Given the description of an element on the screen output the (x, y) to click on. 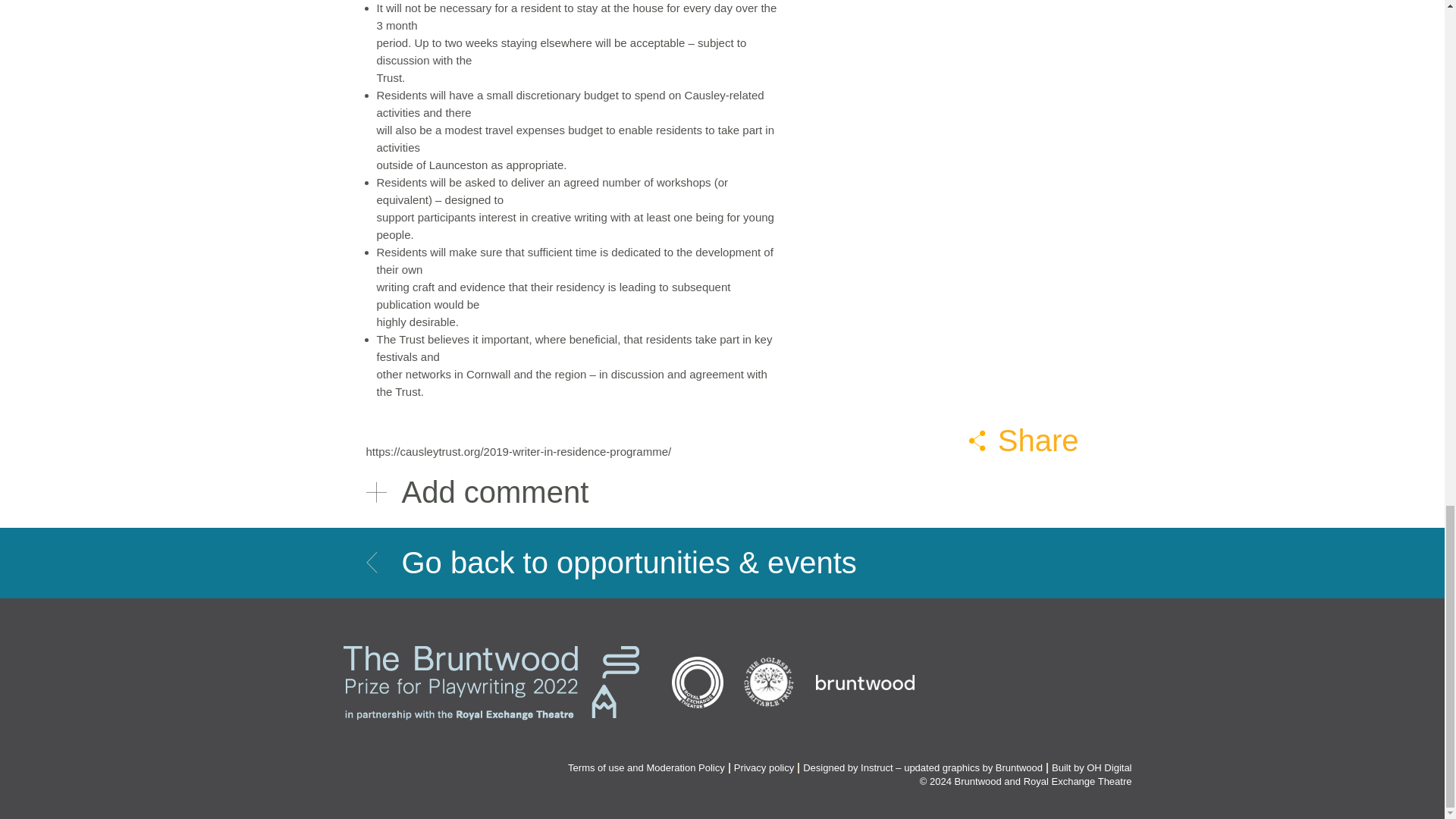
Terms of use and Moderation Policy (646, 767)
Add comment (721, 492)
Privacy policy (763, 767)
Built by OH Digital (1091, 767)
Share (1023, 440)
